Given the description of an element on the screen output the (x, y) to click on. 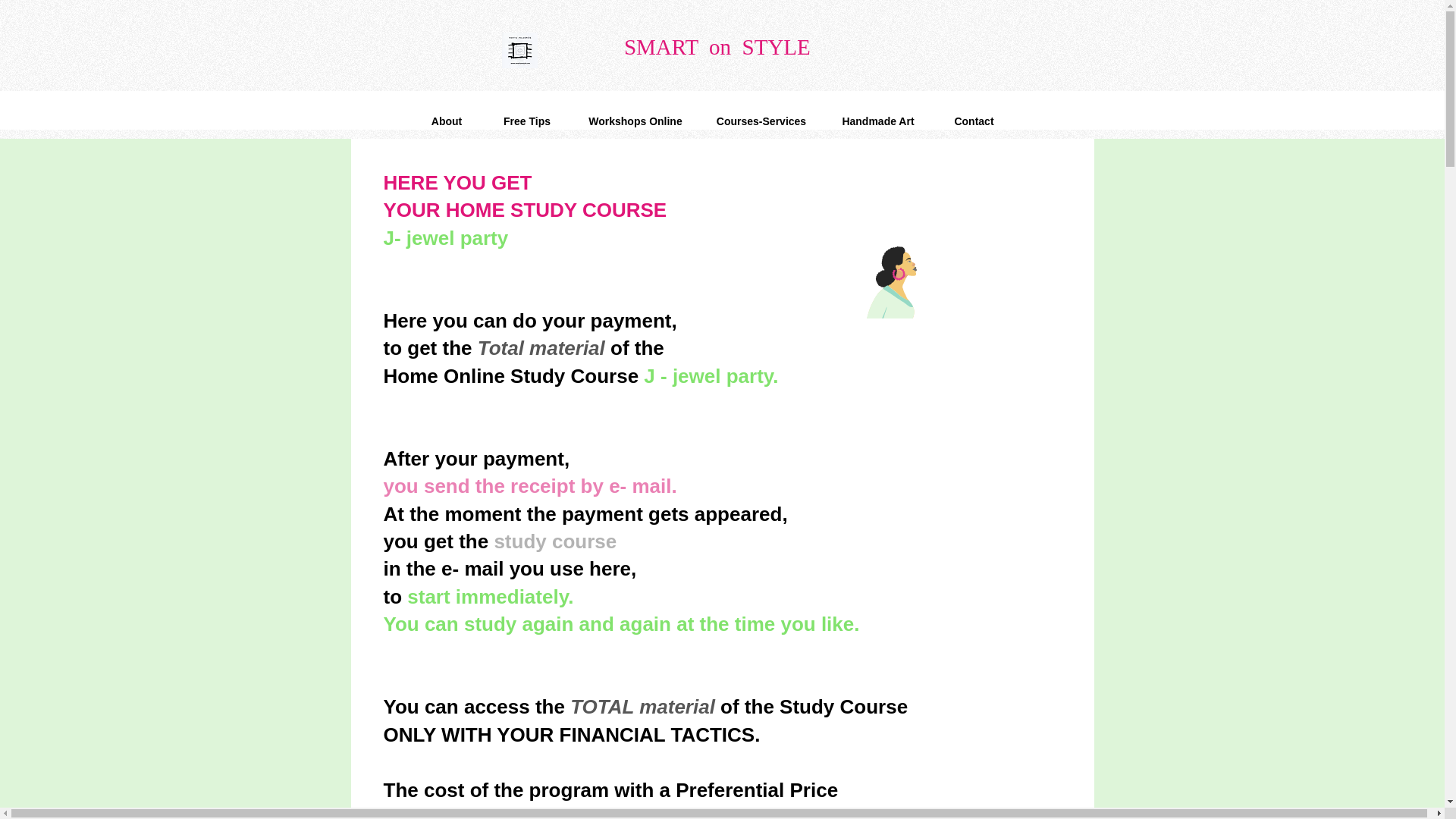
Free Tips (526, 121)
Contact (974, 121)
Handmade Art (877, 121)
Workshops Online (635, 121)
Courses-Services (761, 121)
About (446, 121)
